Given the description of an element on the screen output the (x, y) to click on. 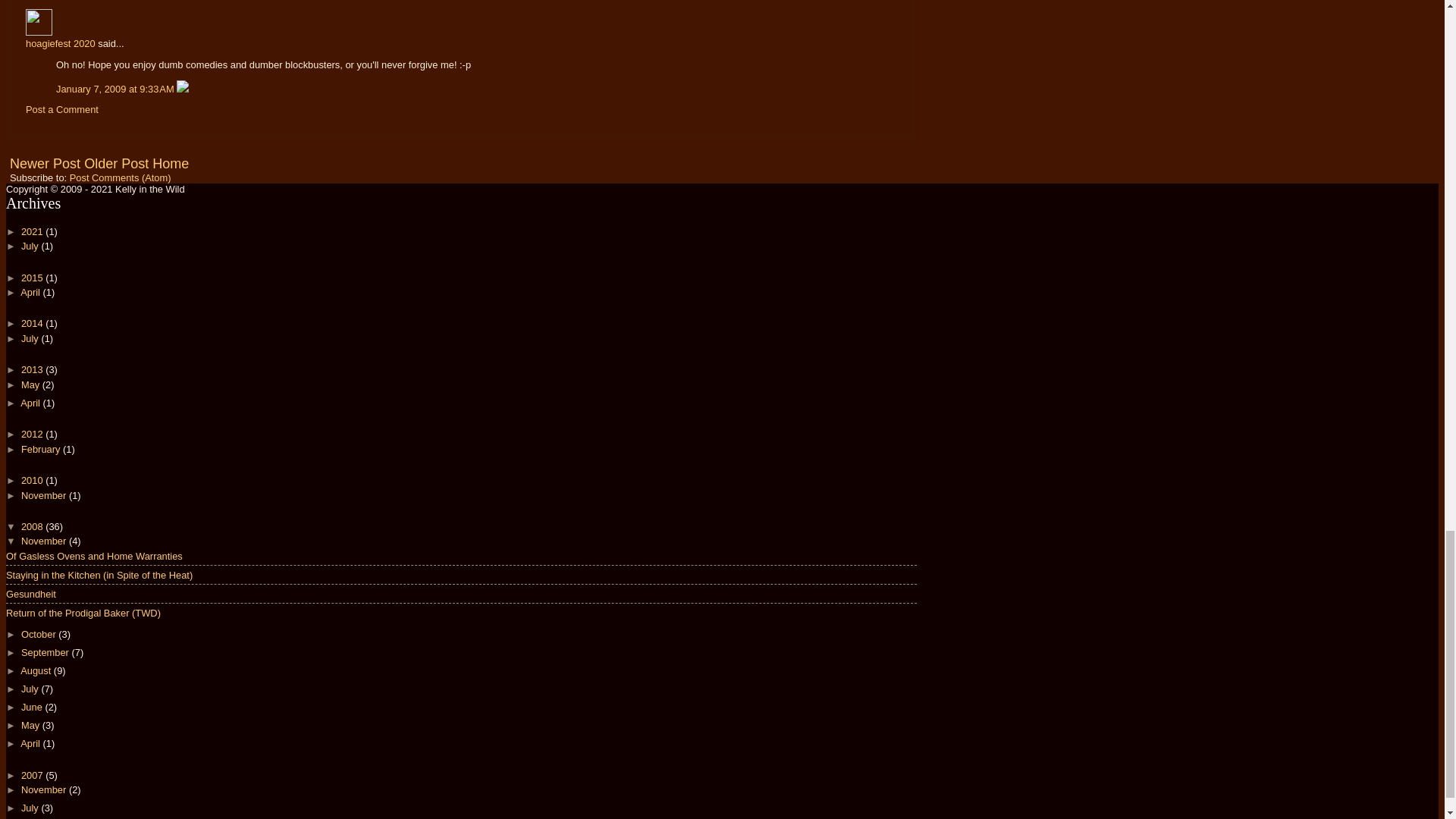
hoagiefest 2020 (61, 43)
Post a Comment (62, 109)
Newer Post (45, 163)
Older Post (116, 163)
